Given the description of an element on the screen output the (x, y) to click on. 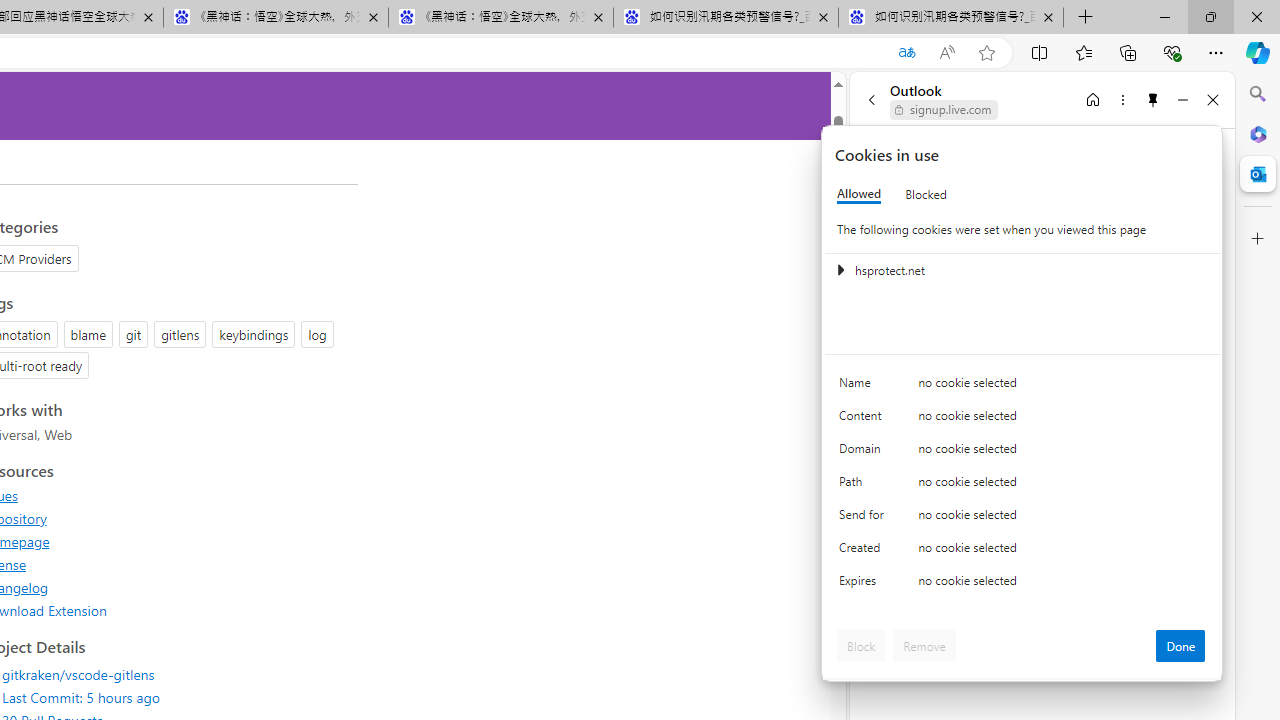
Allowed (859, 193)
Send for (864, 518)
Created (864, 552)
Class: c0153 c0157 c0154 (1023, 386)
Expires (864, 585)
Content (864, 420)
no cookie selected (1062, 585)
Done (1179, 645)
Path (864, 485)
Blocked (925, 193)
Block (861, 645)
Name (864, 387)
Domain (864, 452)
Remove (924, 645)
Class: c0153 c0157 (1023, 584)
